Given the description of an element on the screen output the (x, y) to click on. 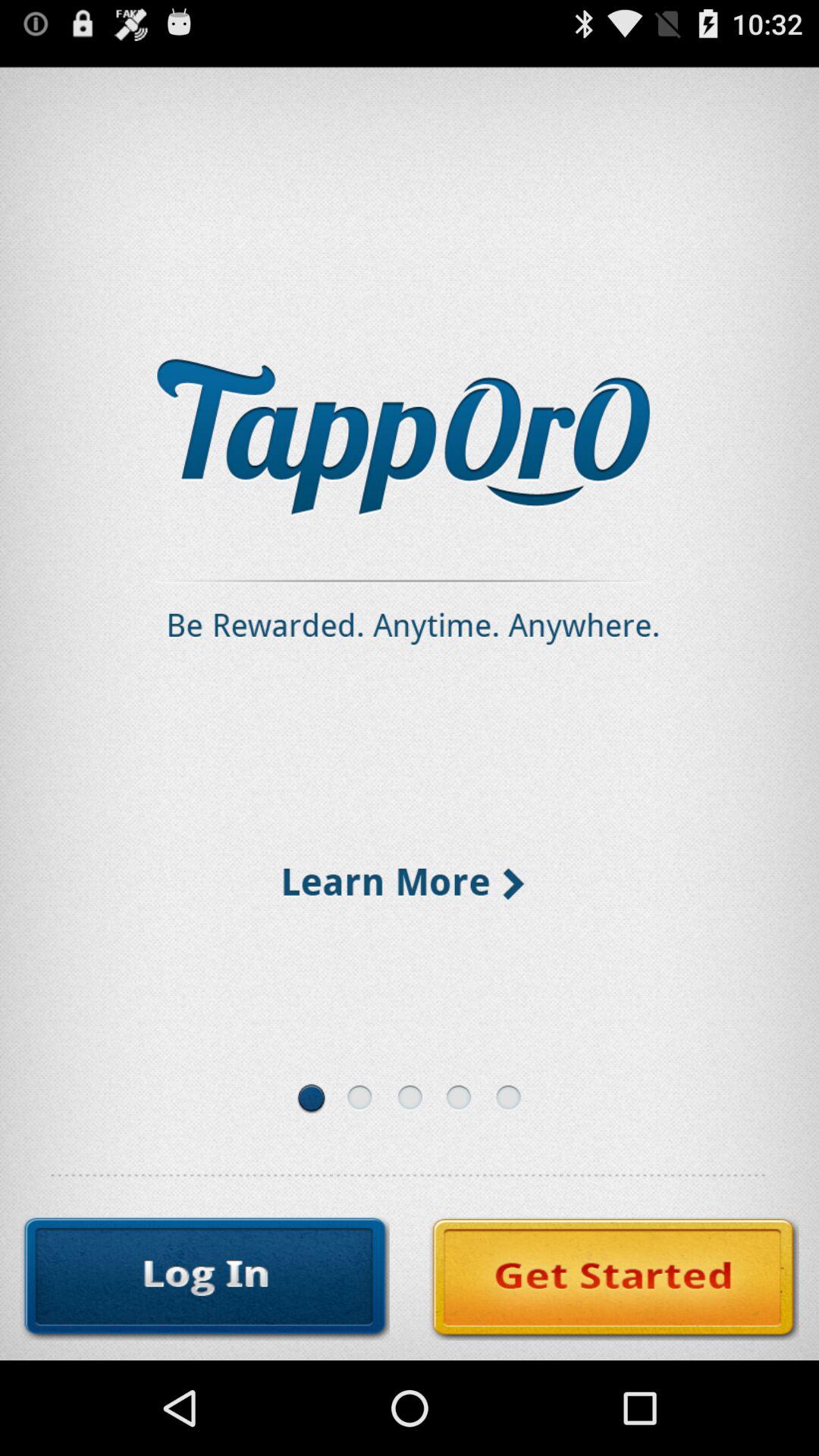
tap the icon at the bottom right corner (614, 1278)
